Given the description of an element on the screen output the (x, y) to click on. 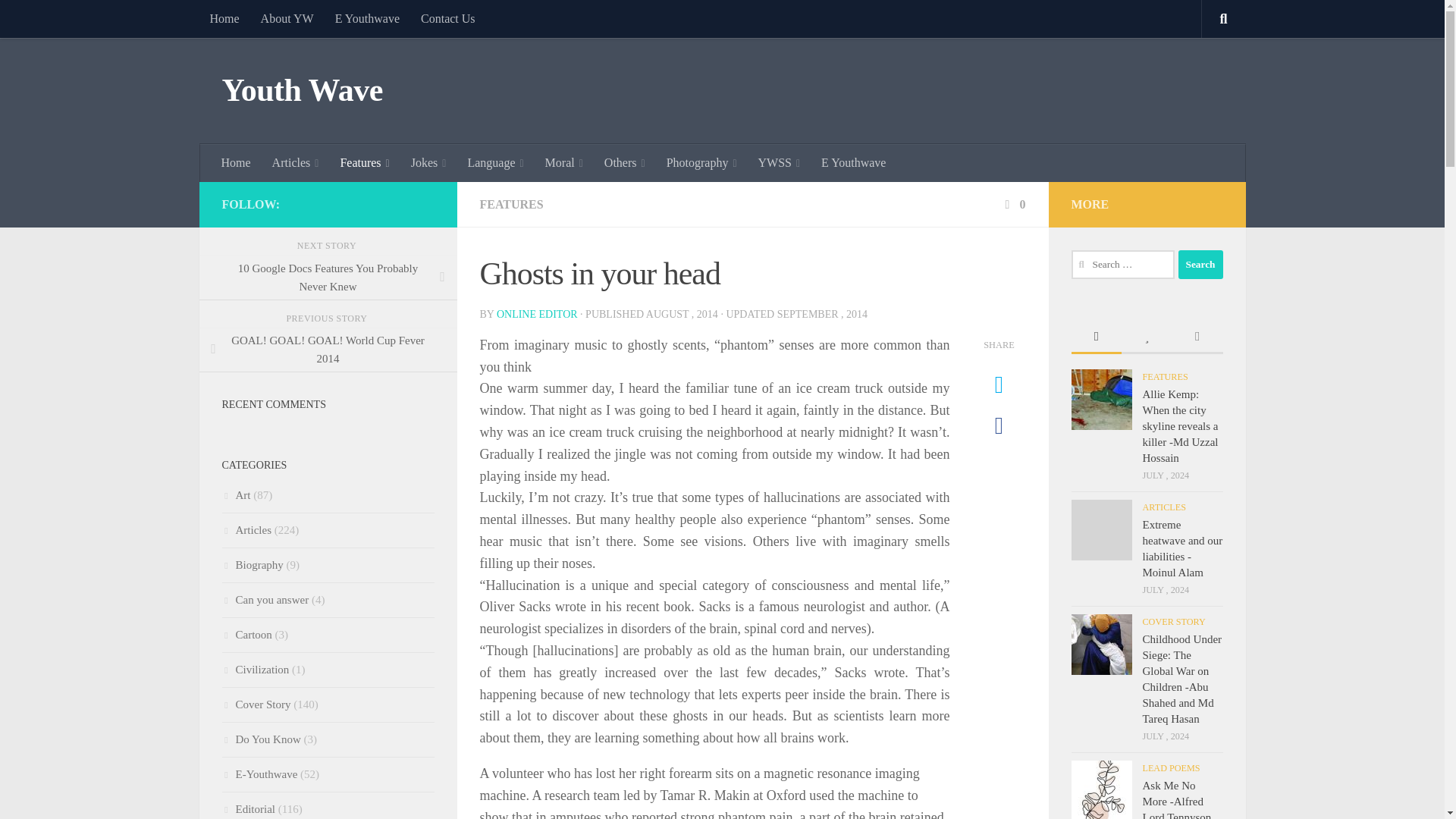
Skip to content (59, 20)
Posts by Online Editor (537, 314)
Search (1200, 264)
Recent Comments (1197, 337)
Search (1200, 264)
Recent Posts (1095, 337)
Popular Posts (1146, 337)
